Given the description of an element on the screen output the (x, y) to click on. 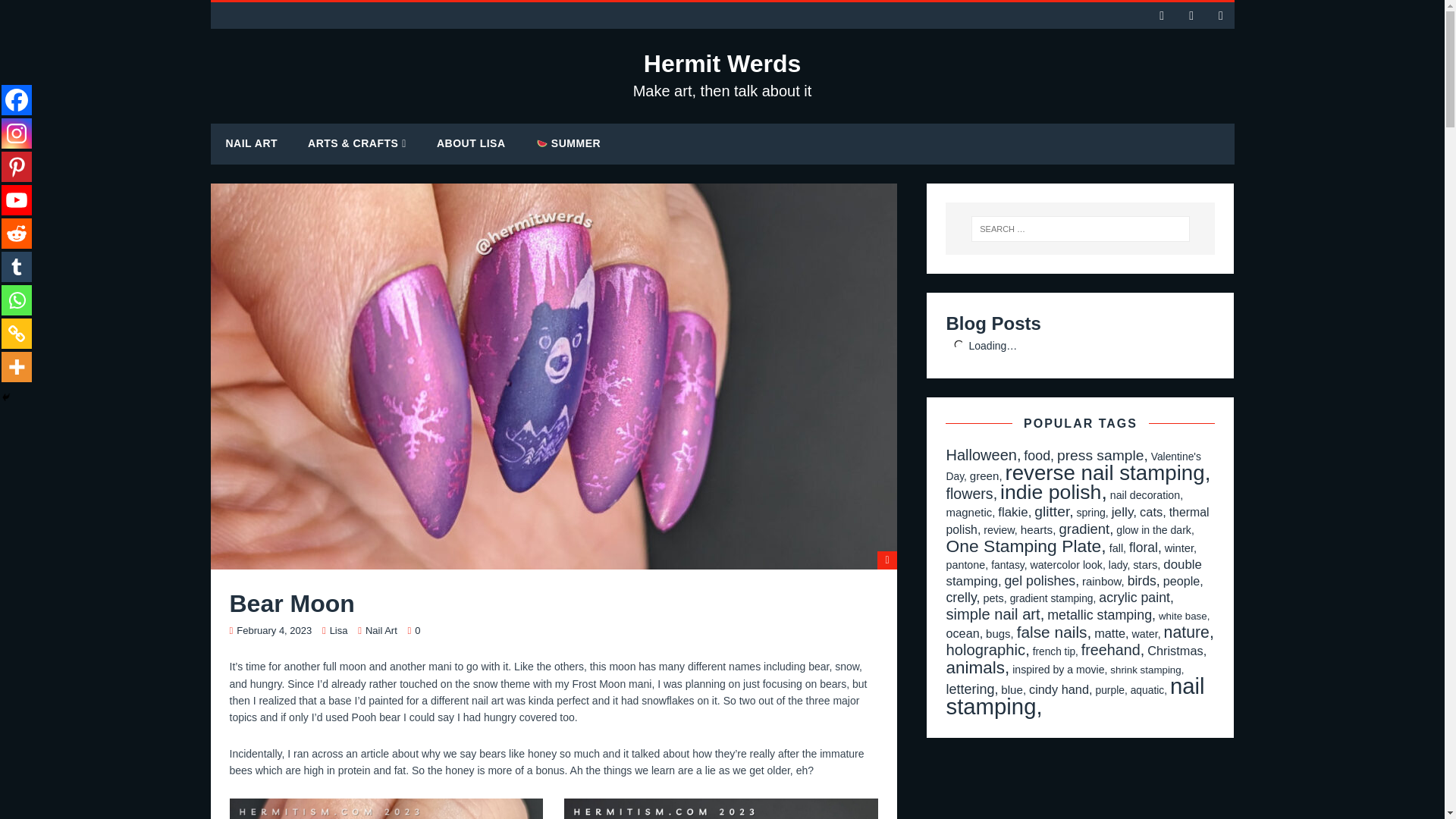
Facebook (16, 100)
February 4, 2023 (273, 630)
SUMMER (568, 142)
Bear Moon (722, 74)
ABOUT LISA (338, 630)
Instagram (471, 142)
Nail Art (16, 132)
NAIL ART (381, 630)
Hermit Werds (252, 142)
Pinterest (722, 74)
Youtube (16, 166)
